Given the description of an element on the screen output the (x, y) to click on. 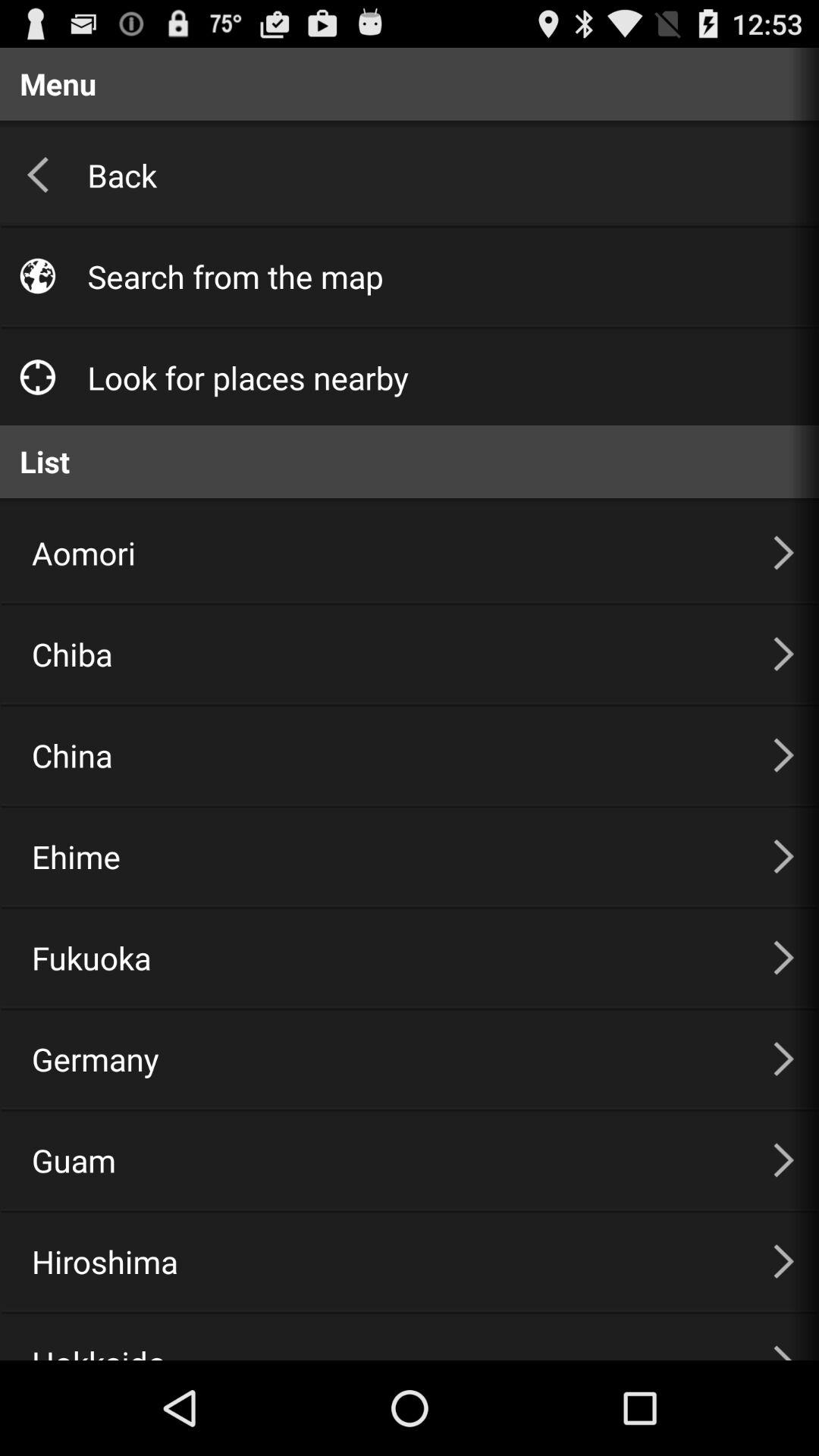
launch the aomori item (384, 552)
